Given the description of an element on the screen output the (x, y) to click on. 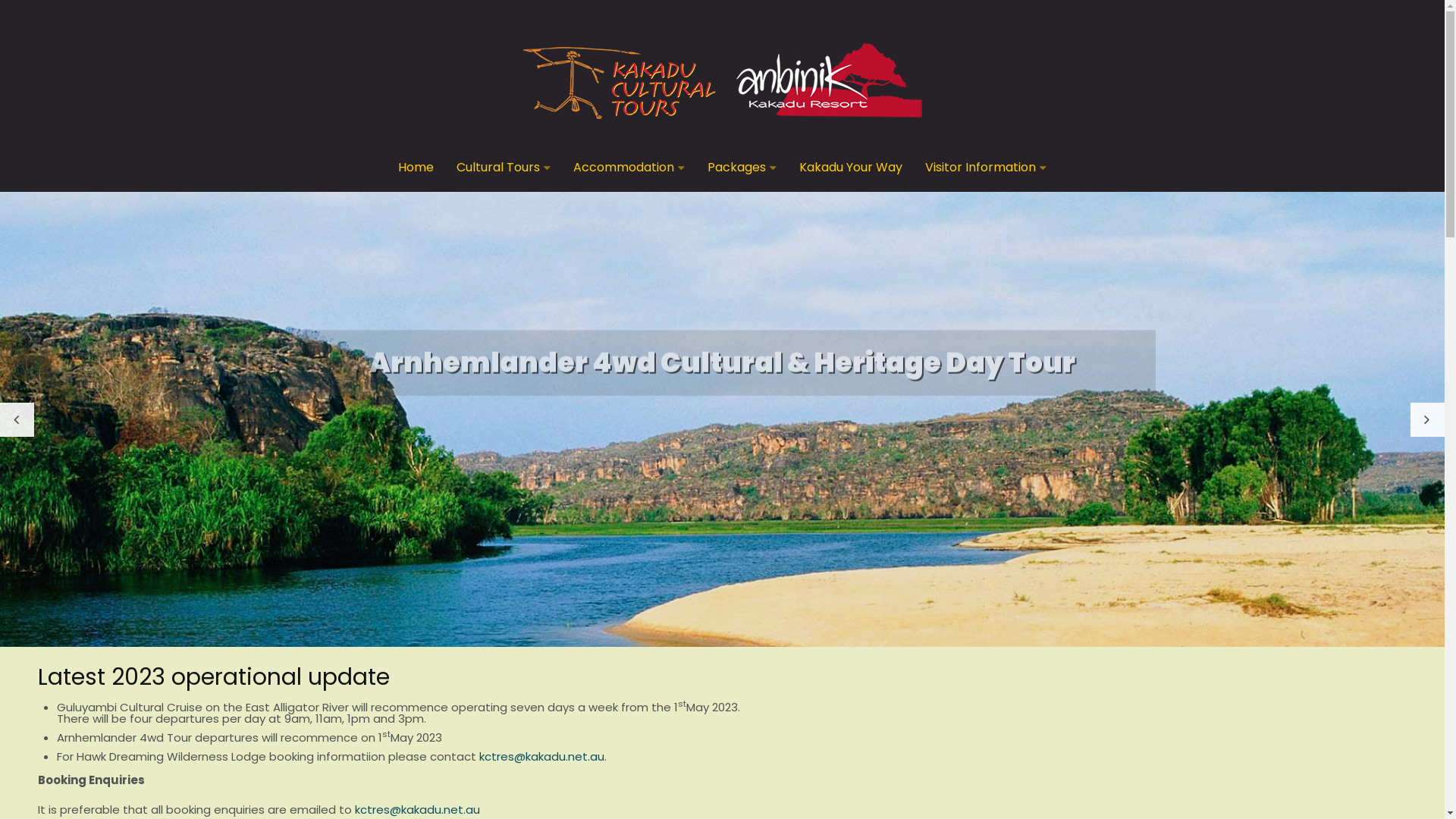
Kakadu Your Way Element type: text (850, 167)
Home Element type: text (415, 167)
Visitor Information Element type: text (980, 167)
kctres@kakadu.net.au Element type: text (417, 809)
Packages Element type: text (736, 167)
kctres@kakadu.net.au Element type: text (541, 756)
Cultural Tours Element type: text (497, 167)
Accommodation Element type: text (623, 167)
